Given the description of an element on the screen output the (x, y) to click on. 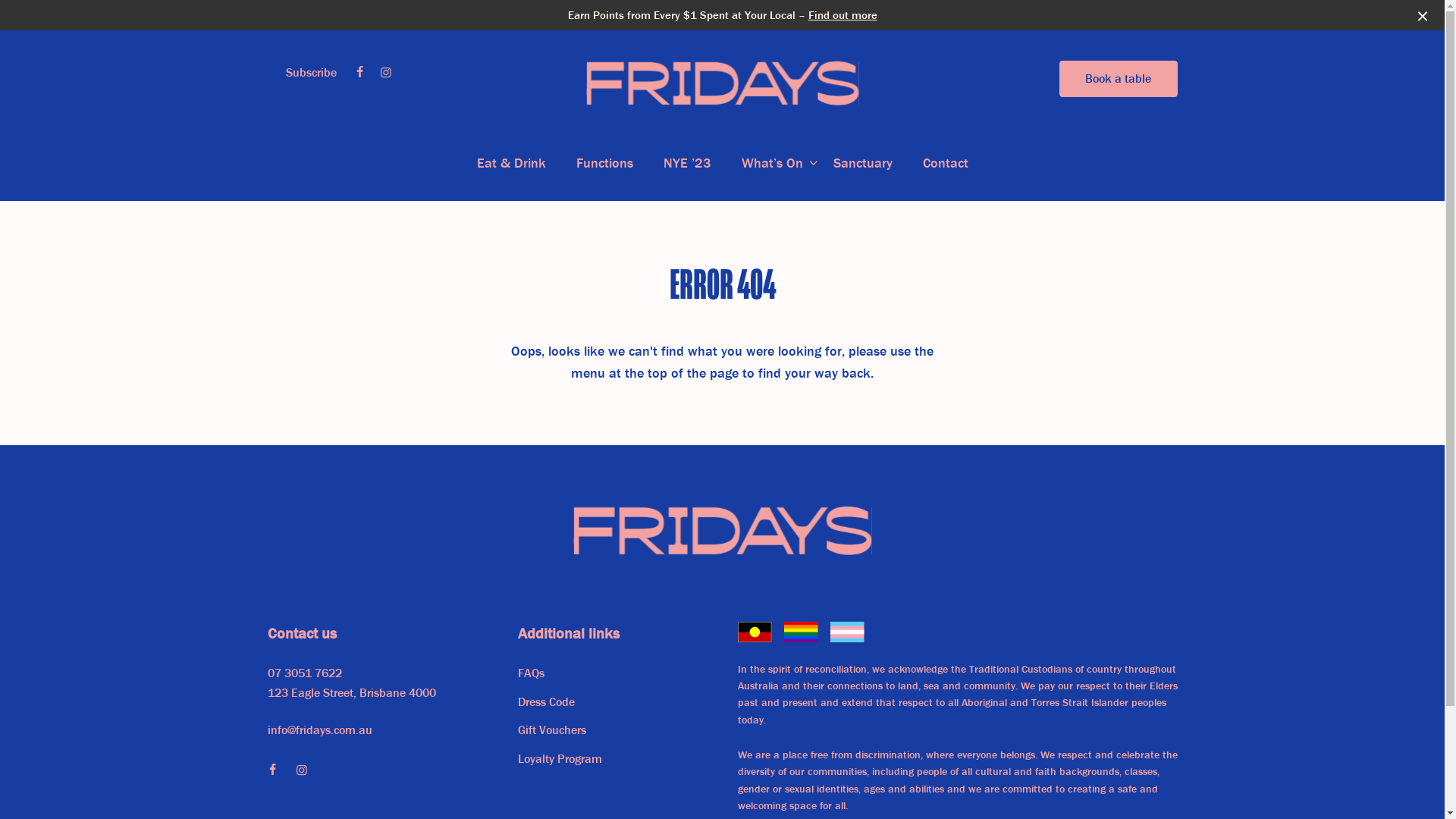
07 3051 7622 Element type: text (303, 673)
Loyalty Program Element type: text (559, 757)
Book a table Element type: text (1117, 78)
123 Eagle Street, Brisbane 4000 Element type: text (350, 692)
Find out more Element type: text (842, 14)
Gift Vouchers Element type: text (551, 729)
FAQs Element type: text (530, 672)
Functions Element type: text (604, 162)
Dress Code Element type: text (545, 701)
Contact Element type: text (944, 162)
Eat & Drink Element type: text (510, 162)
Sanctuary Element type: text (861, 162)
info@fridays.com.au Element type: text (318, 730)
Subscribe Element type: text (310, 71)
